Given the description of an element on the screen output the (x, y) to click on. 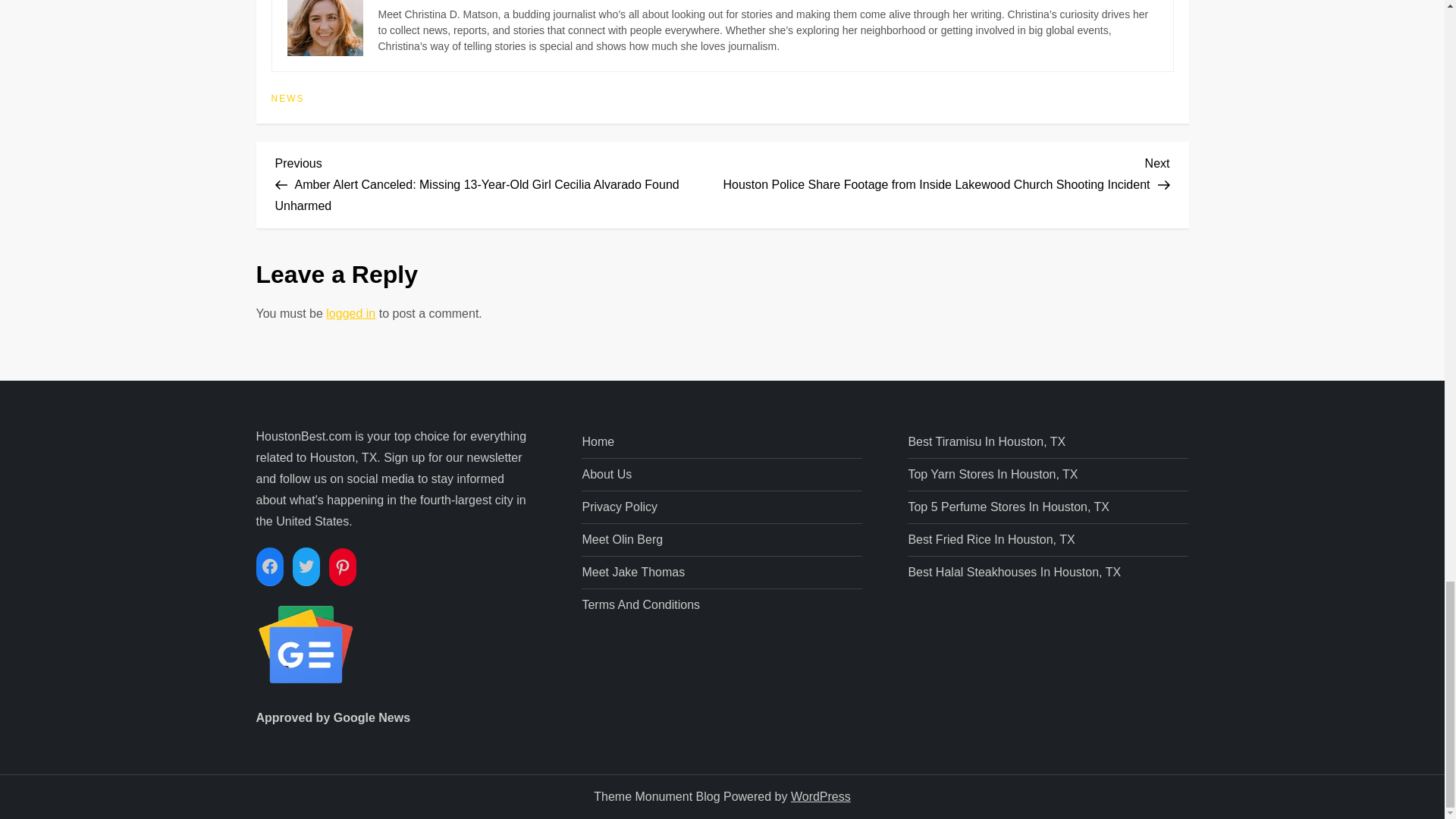
Home (597, 441)
Terms And Conditions (640, 604)
Meet Olin Berg (621, 539)
Pinterest (342, 566)
Best Tiramisu In Houston, TX (986, 441)
NEWS (287, 98)
About Us (605, 474)
